Given the description of an element on the screen output the (x, y) to click on. 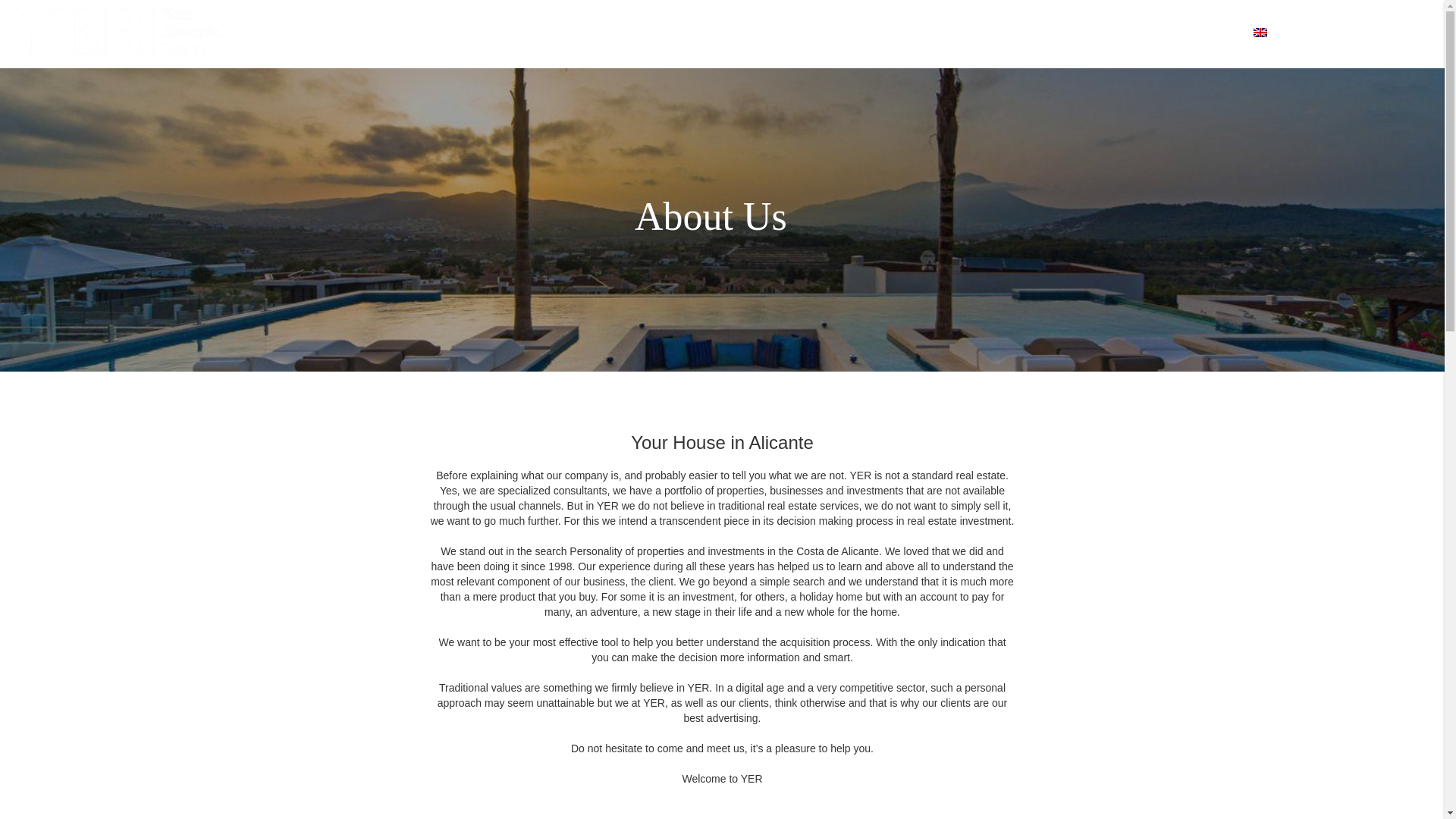
PROPERTIES (973, 33)
SERVICES (1044, 33)
English (1259, 31)
CONTACT (1208, 33)
ABOUT US (901, 33)
